Given the description of an element on the screen output the (x, y) to click on. 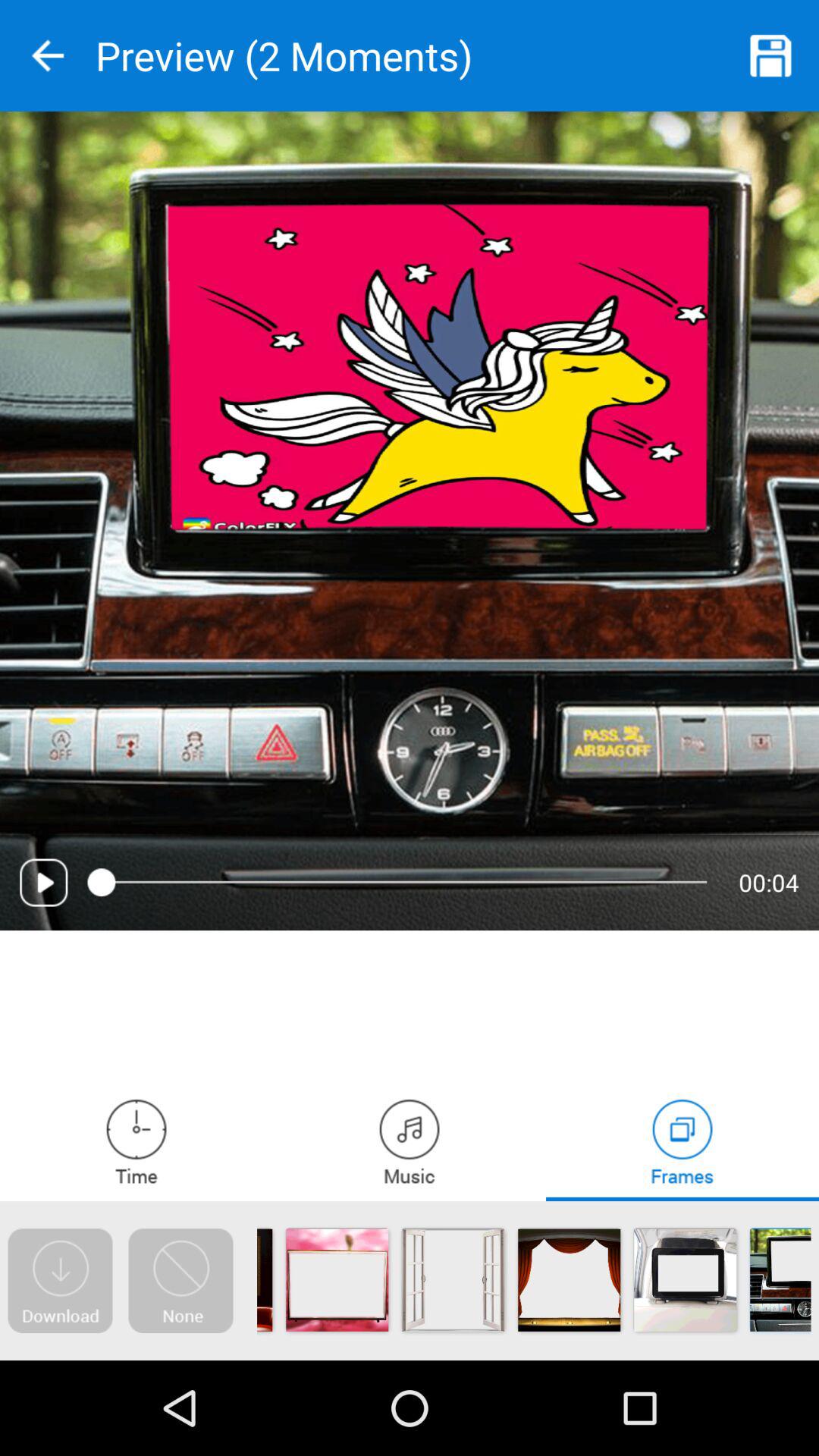
tap icon on the left (43, 882)
